Given the description of an element on the screen output the (x, y) to click on. 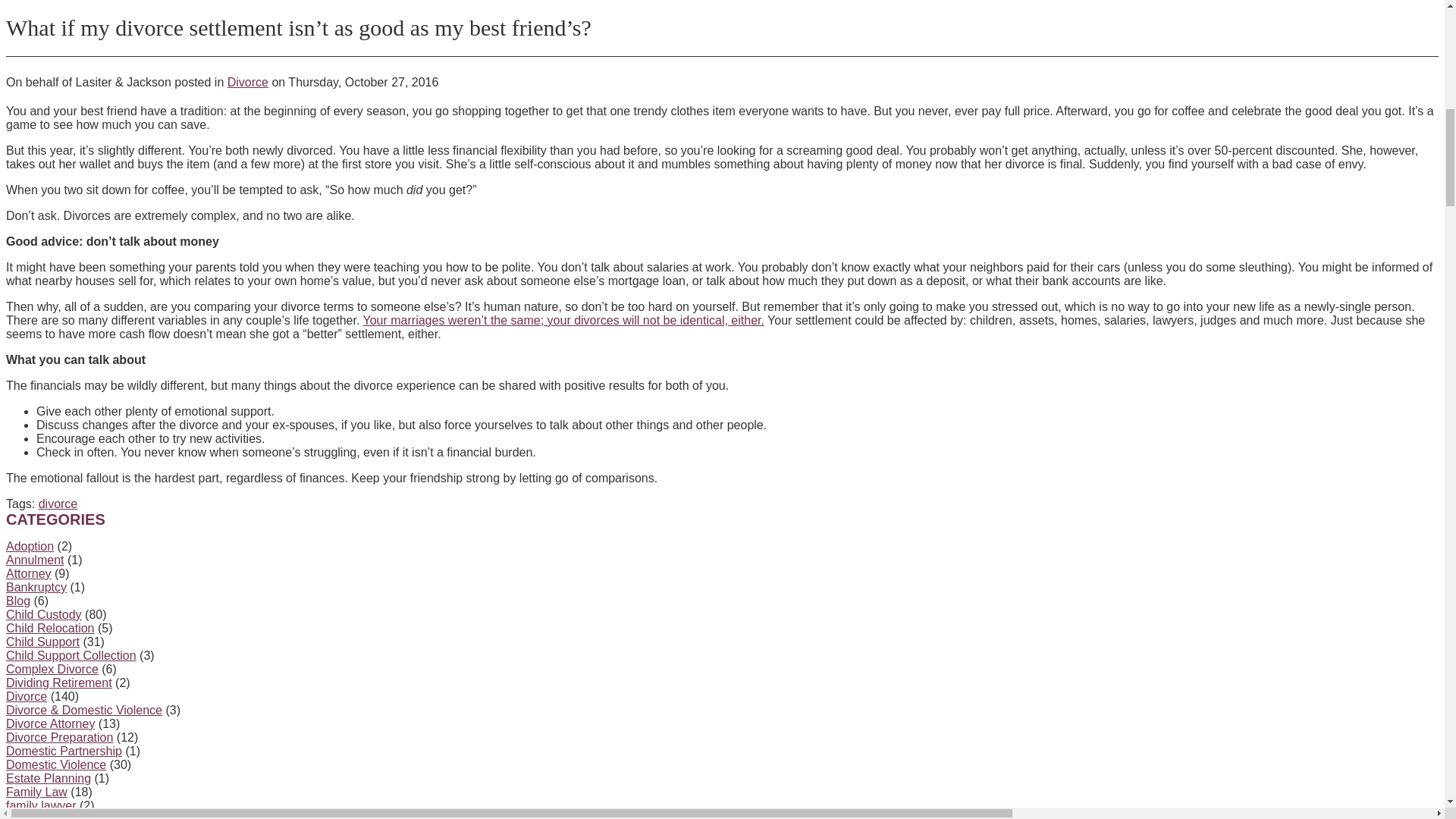
Divorce (247, 82)
